Given the description of an element on the screen output the (x, y) to click on. 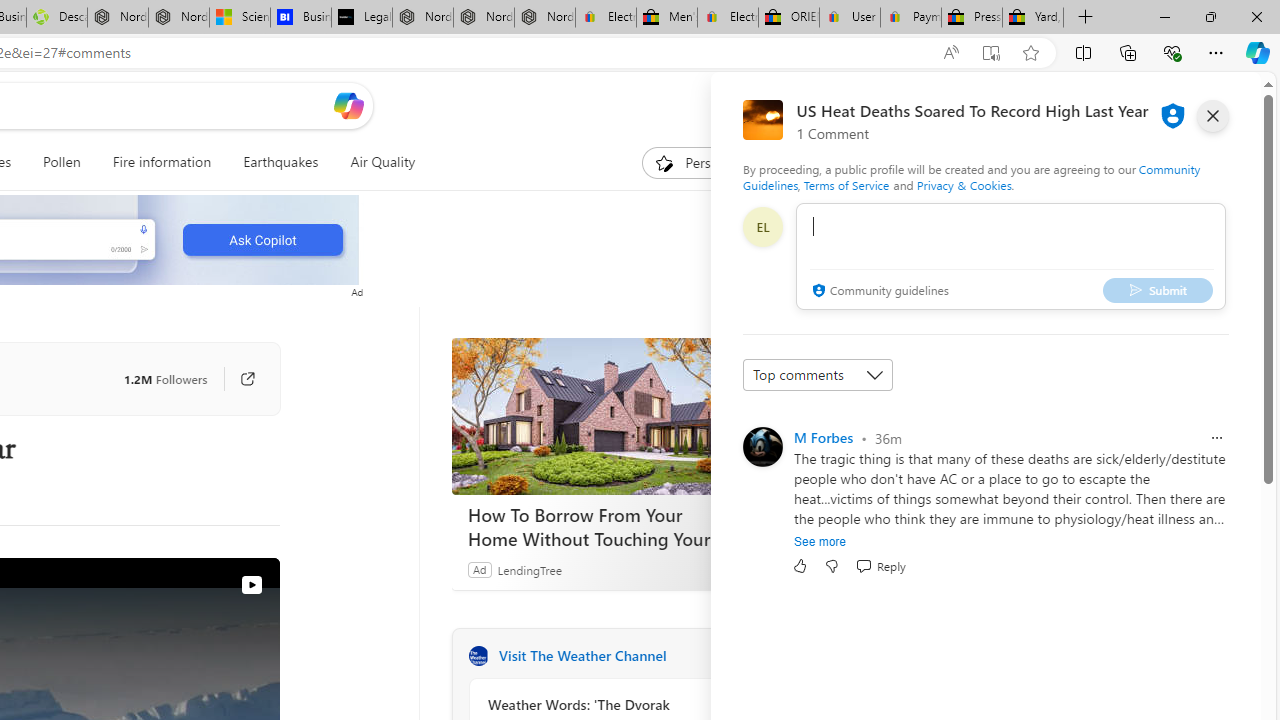
Descarga Driver Updater (56, 17)
Notifications (1176, 105)
Yard, Garden & Outdoor Living (1033, 17)
Personalize (703, 162)
Minimize (1164, 16)
How To Borrow From Your Home Without Touching Your Mortgage (601, 526)
Close (1256, 16)
Visit The Weather Channel website (726, 655)
LendingTree (528, 569)
Enter Immersive Reader (F9) (991, 53)
Copilot (Ctrl+Shift+.) (1258, 52)
See more (820, 541)
Community guidelines (878, 291)
Privacy & Cookies (964, 184)
